Given the description of an element on the screen output the (x, y) to click on. 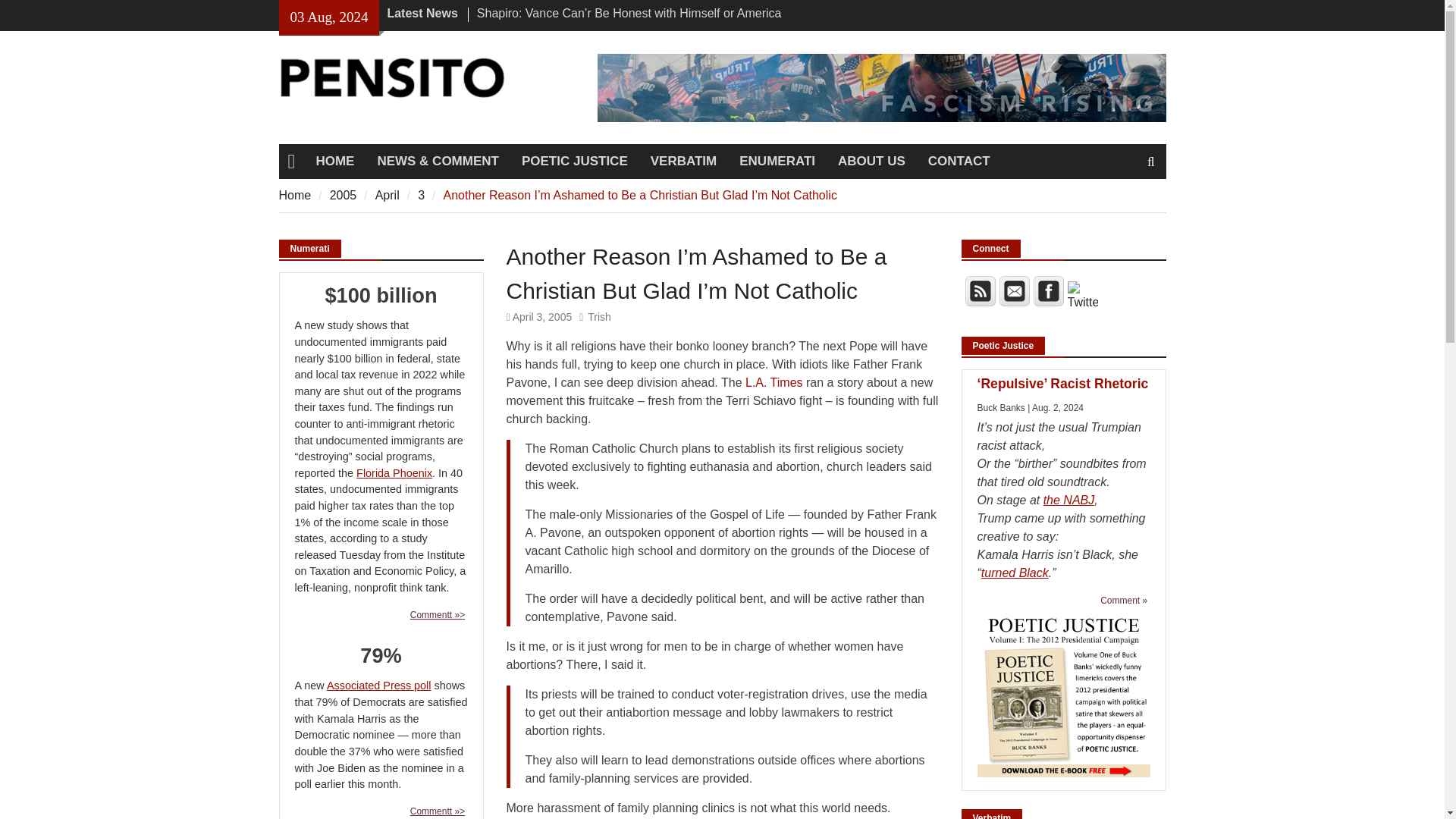
CONTACT (959, 161)
RSS (978, 291)
April (386, 194)
Twitter (1082, 295)
HOME (334, 161)
POETIC JUSTICE (575, 161)
VERBATIM (684, 161)
April 3, 2005 (542, 316)
Home (295, 194)
ABOUT US (872, 161)
